Given the description of an element on the screen output the (x, y) to click on. 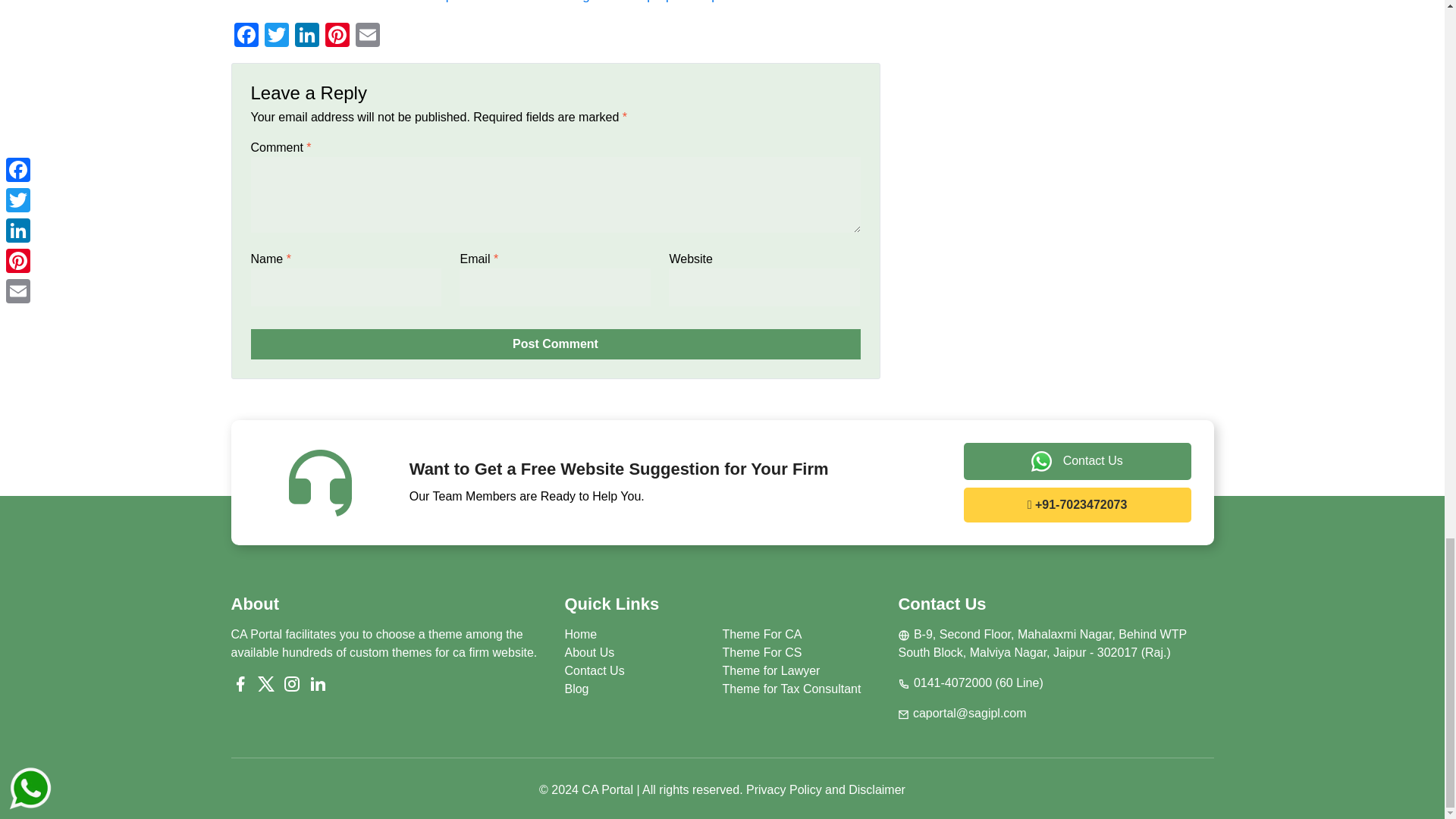
Pinterest (336, 36)
Email (366, 36)
LinkedIn (306, 36)
Post Comment (555, 344)
Pinterest (336, 36)
Post Comment (555, 344)
Facebook (245, 36)
LinkedIn (306, 36)
Twitter (275, 36)
Email (366, 36)
